Given the description of an element on the screen output the (x, y) to click on. 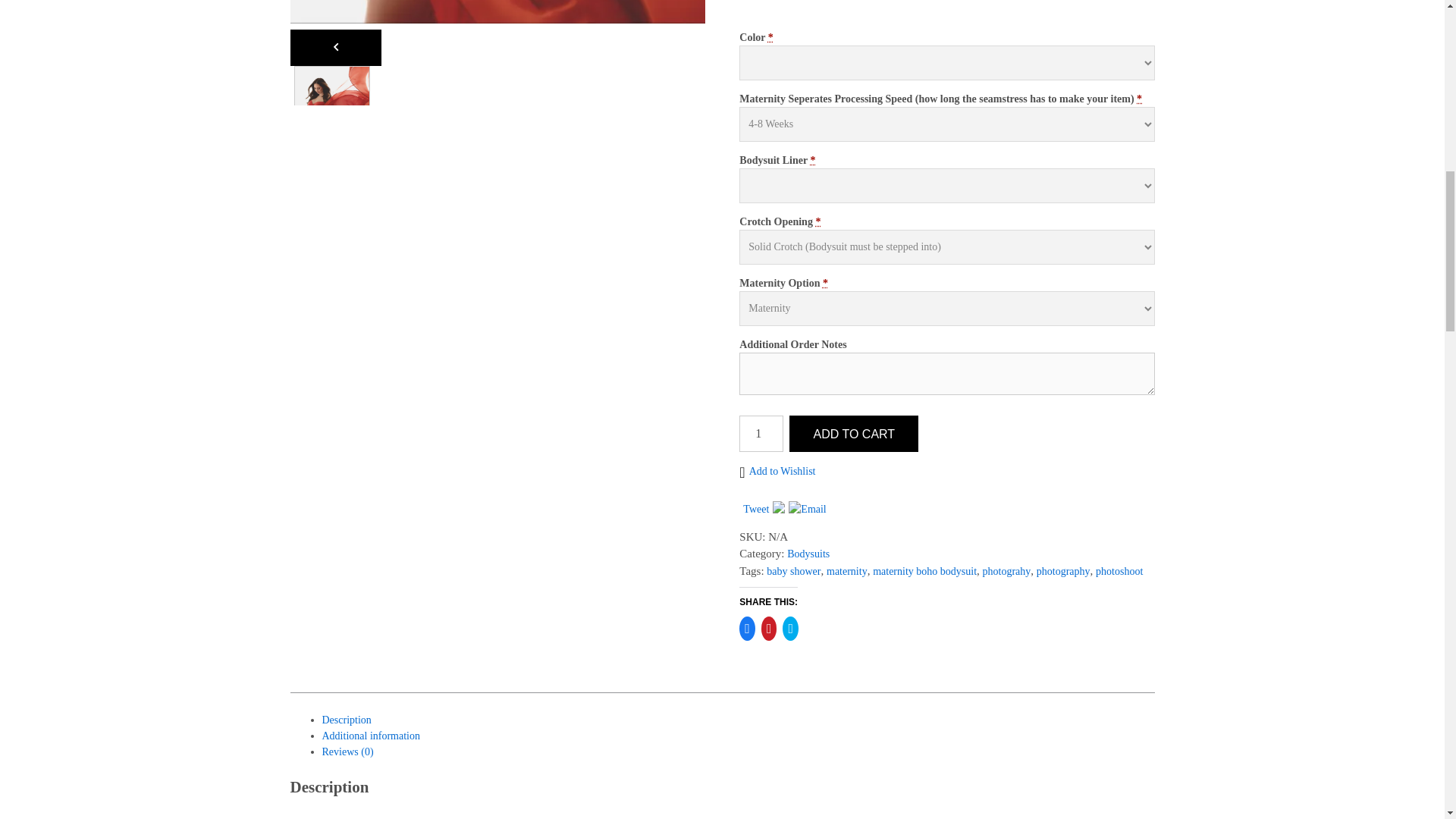
1 (761, 433)
Isosbel Bodysuit, Miss Madison Boutique (496, 11)
Isosbel Bodysuit, Miss Madison Boutique (331, 103)
